Given the description of an element on the screen output the (x, y) to click on. 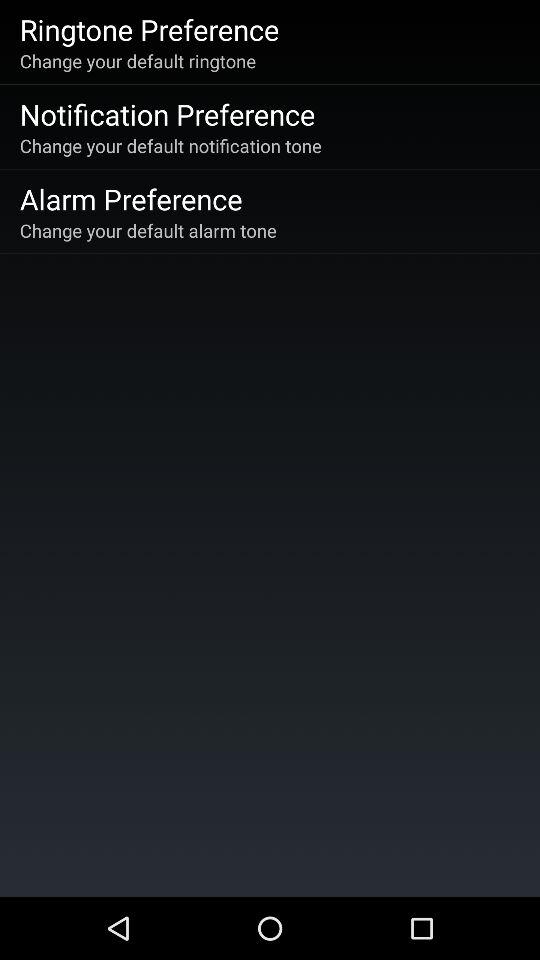
tap icon below the change your default icon (167, 113)
